Given the description of an element on the screen output the (x, y) to click on. 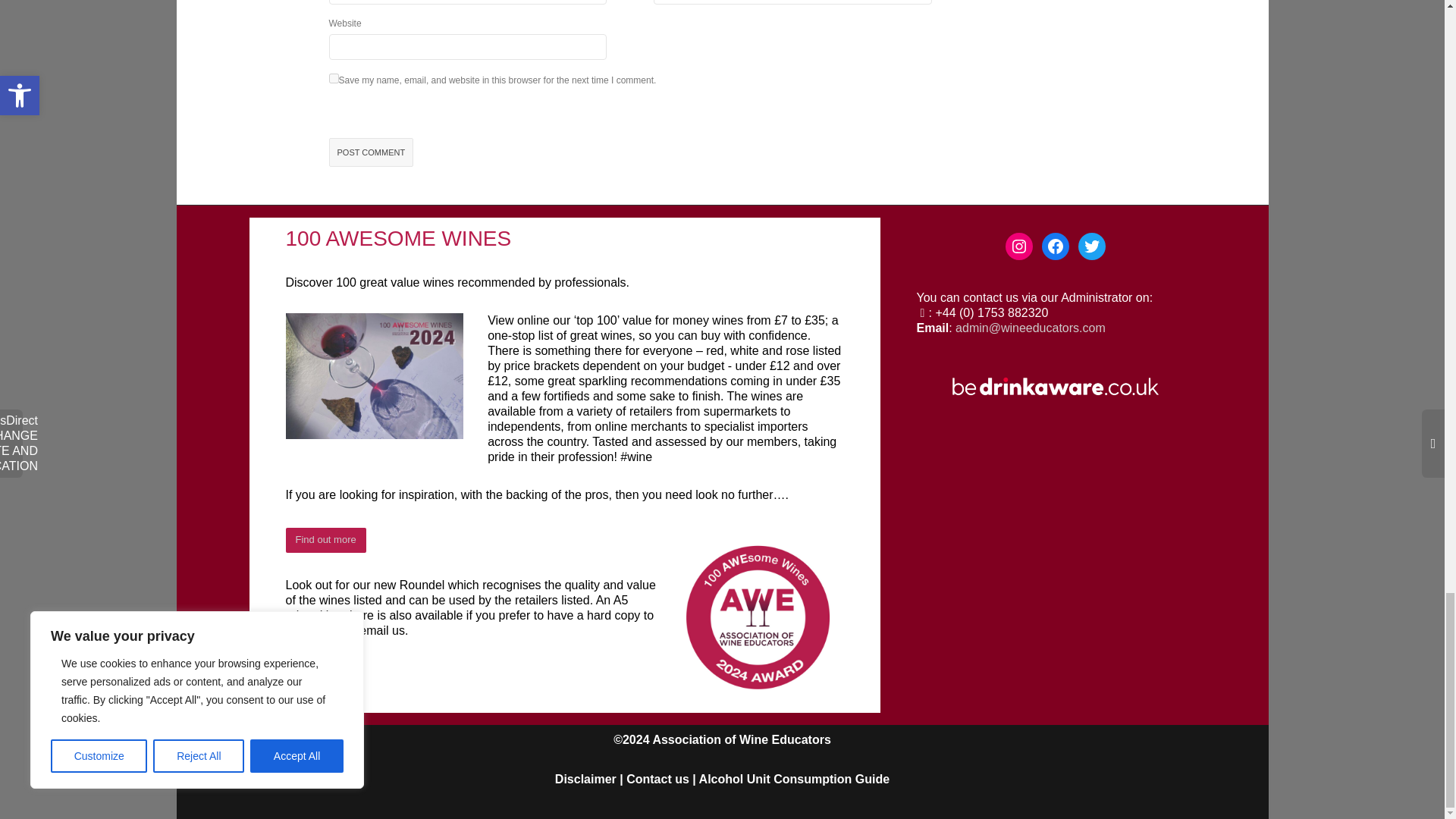
Post comment (371, 152)
yes (334, 78)
